Given the description of an element on the screen output the (x, y) to click on. 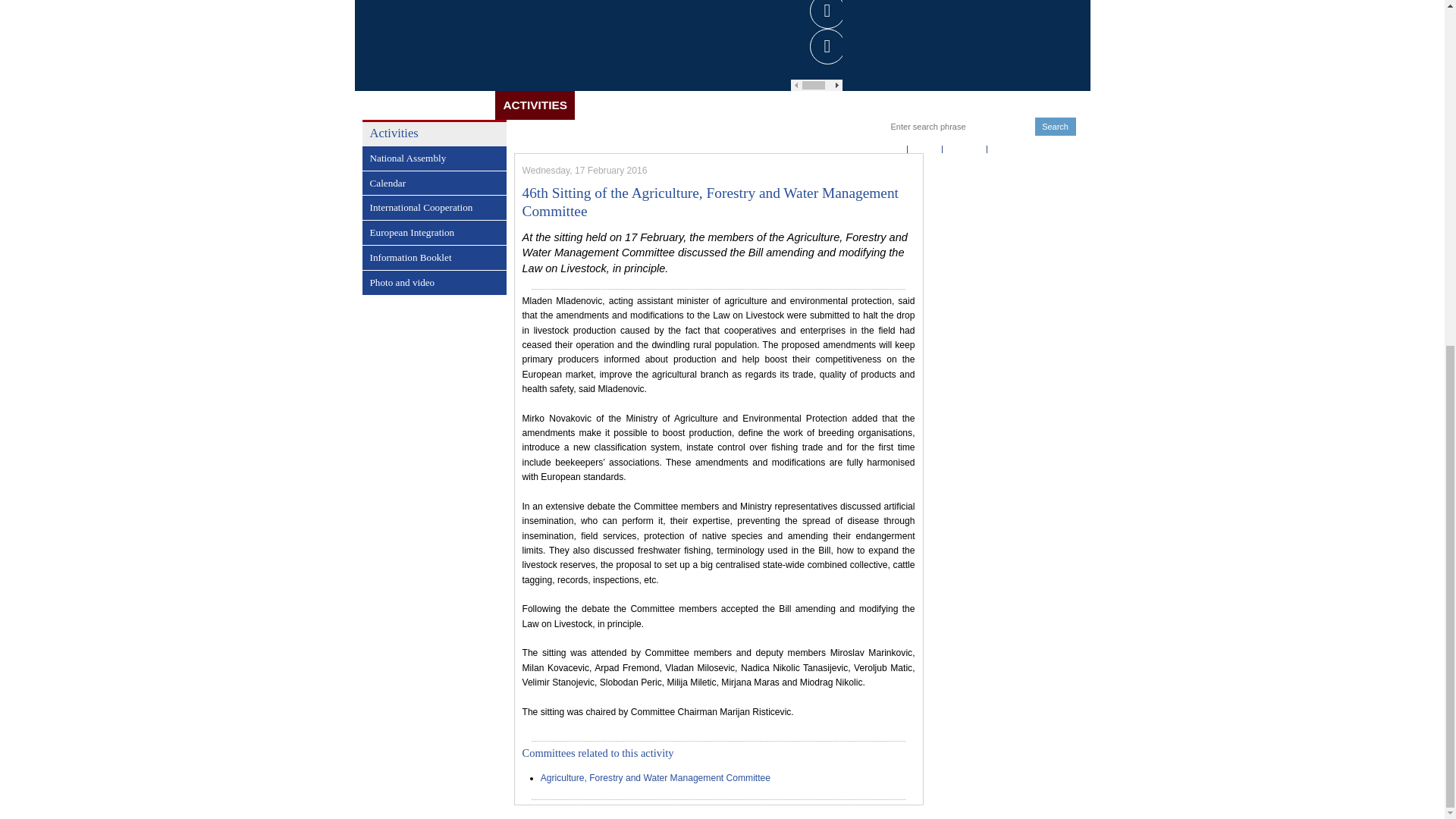
Search (1055, 126)
Information for special needs persons (867, 134)
Increase font size (845, 134)
Search (1055, 126)
Decrease font size (823, 134)
